Given the description of an element on the screen output the (x, y) to click on. 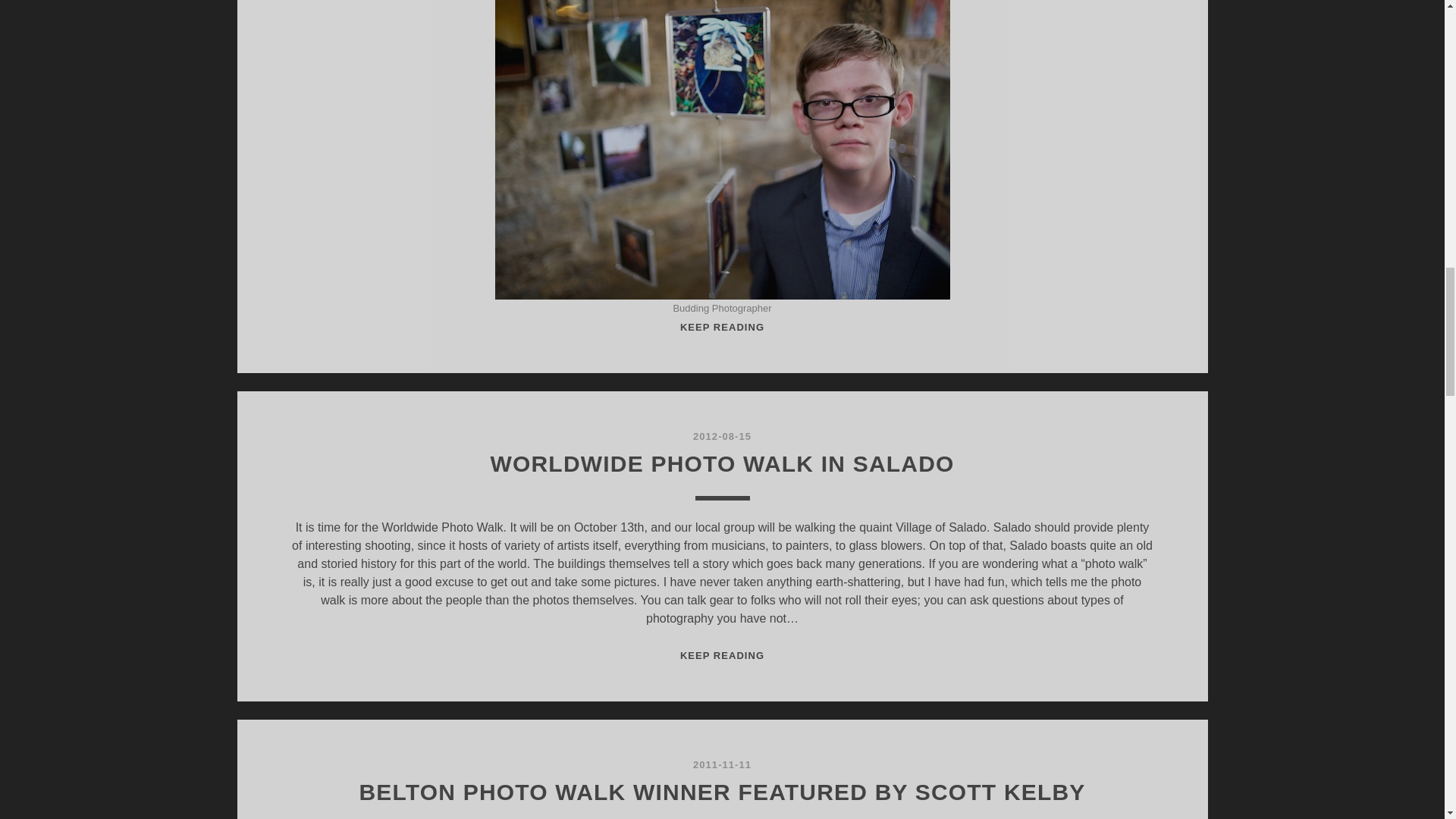
BELTON PHOTO WALK WINNER FEATURED BY SCOTT KELBY (721, 791)
Budding Photographer (721, 655)
